Given the description of an element on the screen output the (x, y) to click on. 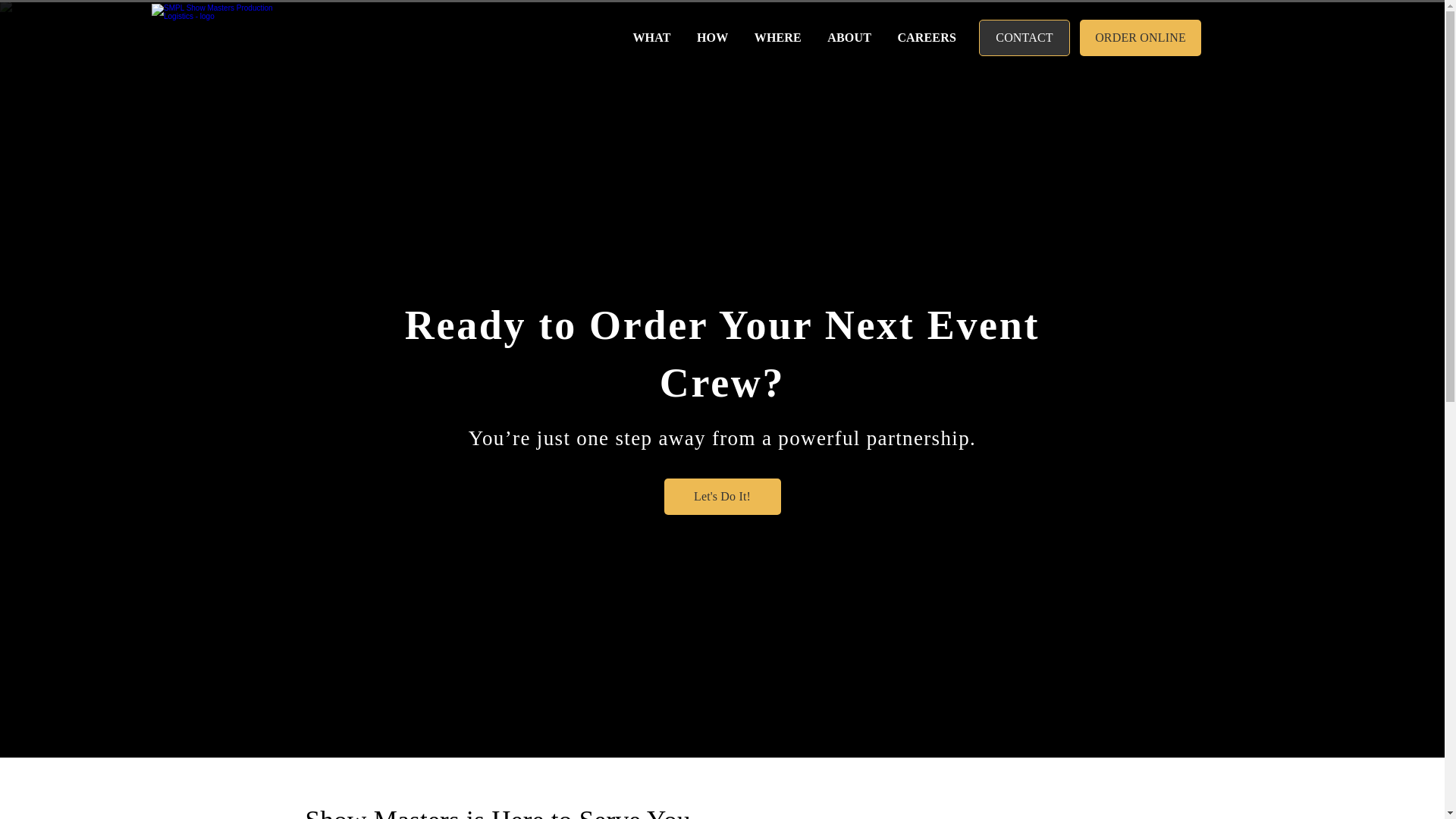
ABOUT (847, 37)
CAREERS (924, 37)
SMPL Show Masters Production Logistics - logo (219, 38)
HOW (710, 37)
Let's Do It! (721, 496)
WHERE (775, 37)
ORDER ONLINE (1140, 37)
CONTACT (1024, 37)
WHAT (649, 37)
